Given the description of an element on the screen output the (x, y) to click on. 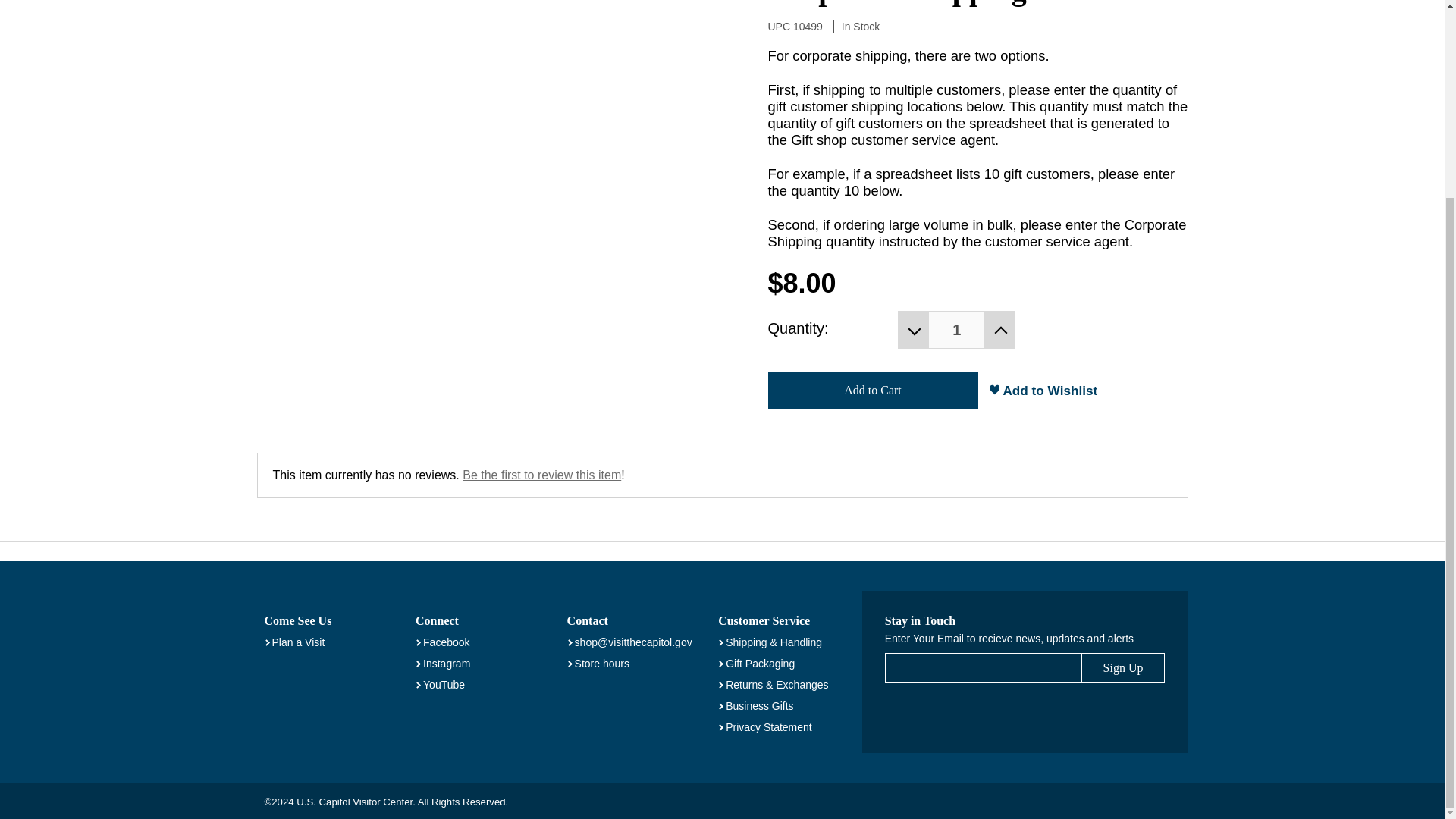
1 (956, 329)
Sign Up (1123, 667)
Add to Cart (871, 390)
